Given the description of an element on the screen output the (x, y) to click on. 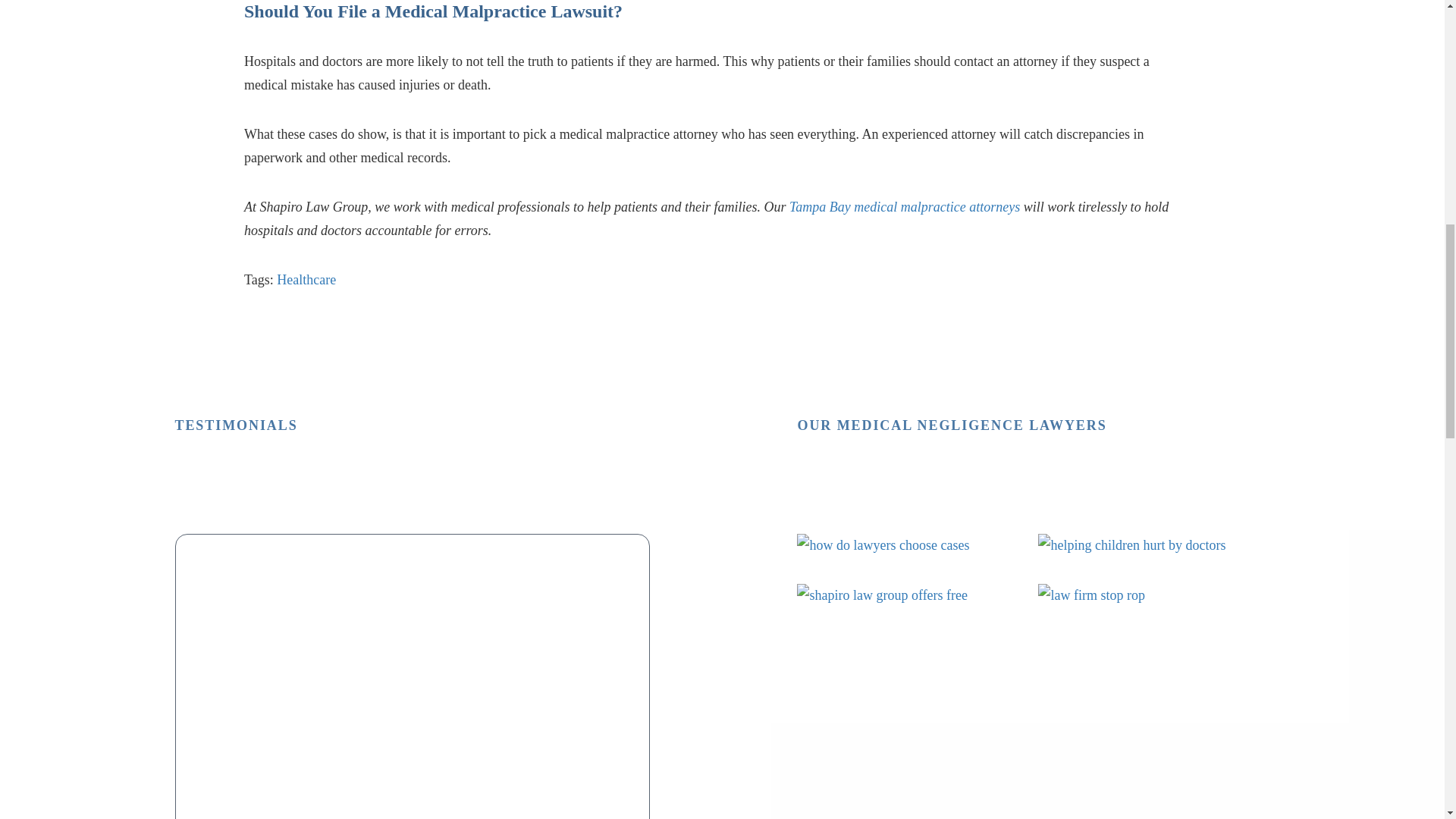
Healthcare (306, 279)
Tampa Bay medical malpractice attorneys (904, 206)
